Given the description of an element on the screen output the (x, y) to click on. 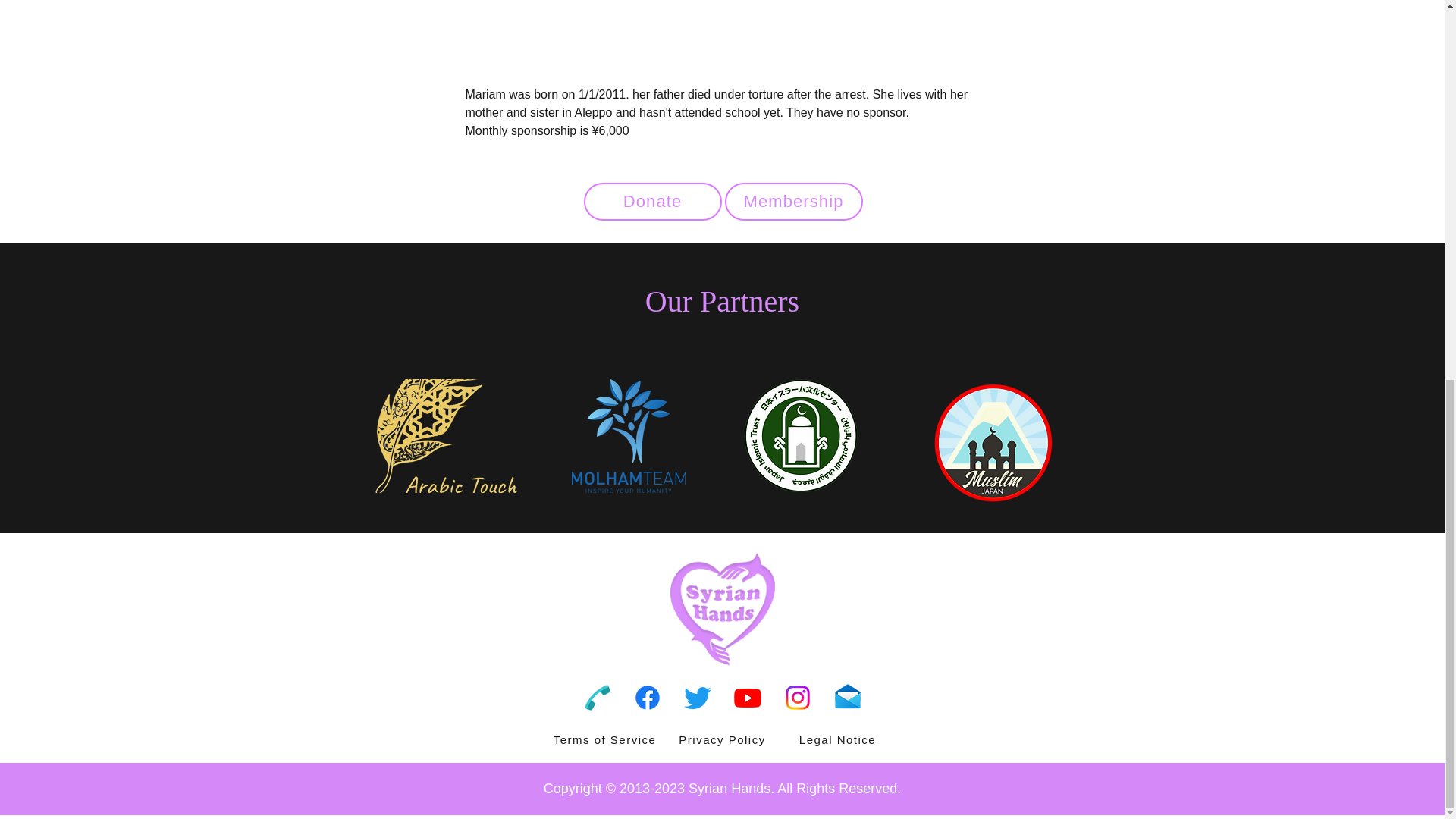
Donate (652, 201)
Terms of Service (605, 738)
Privacy Policy (723, 738)
Membership (794, 201)
